Given the description of an element on the screen output the (x, y) to click on. 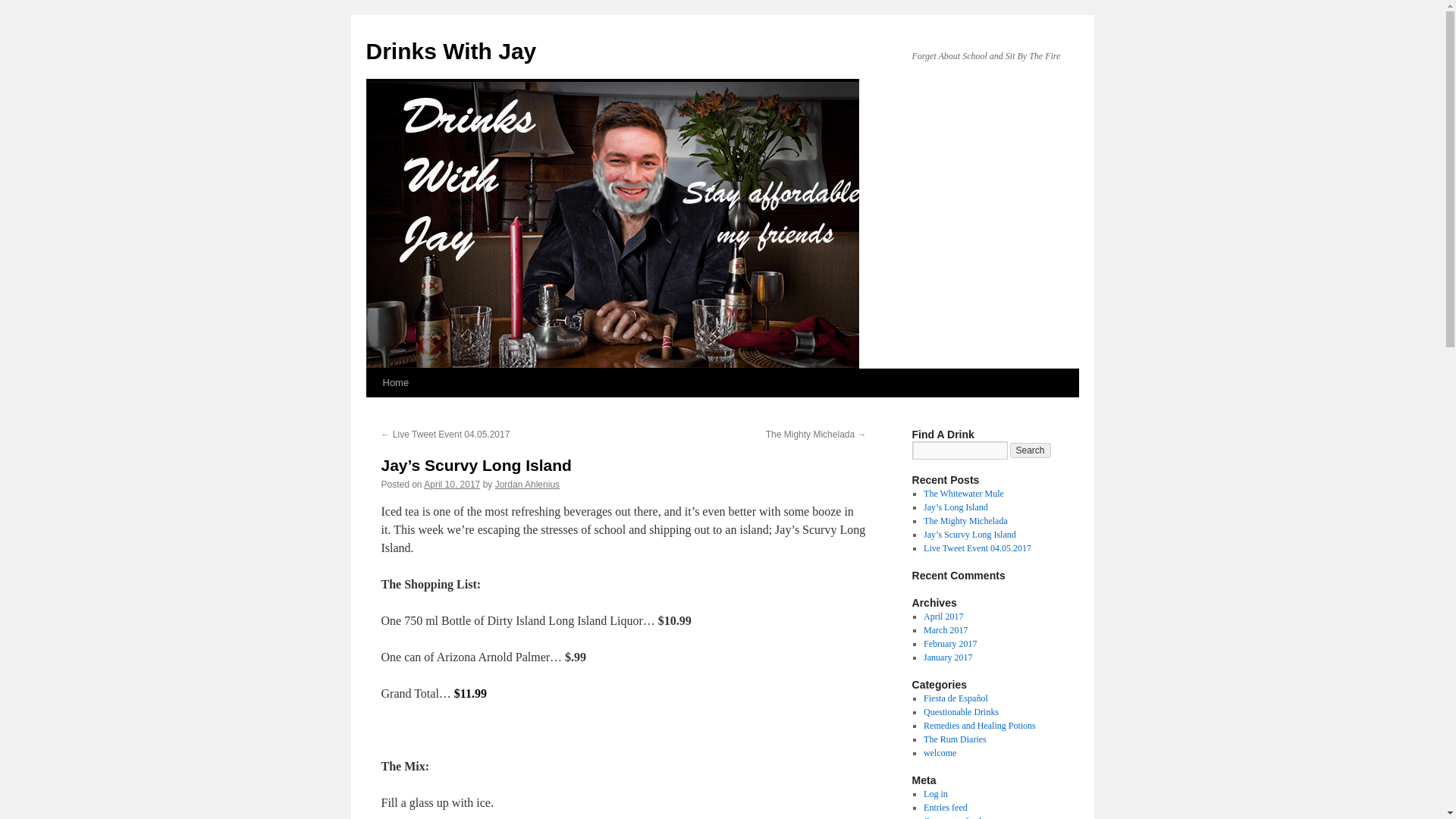
February 2017 (949, 643)
Log in (935, 793)
January 2017 (947, 656)
Drinks With Jay (450, 50)
April 2017 (942, 615)
welcome (939, 752)
Live Tweet Event 04.05.2017 (976, 547)
Search (1030, 450)
The Rum Diaries (955, 738)
The Mighty Michelada (965, 520)
